Given the description of an element on the screen output the (x, y) to click on. 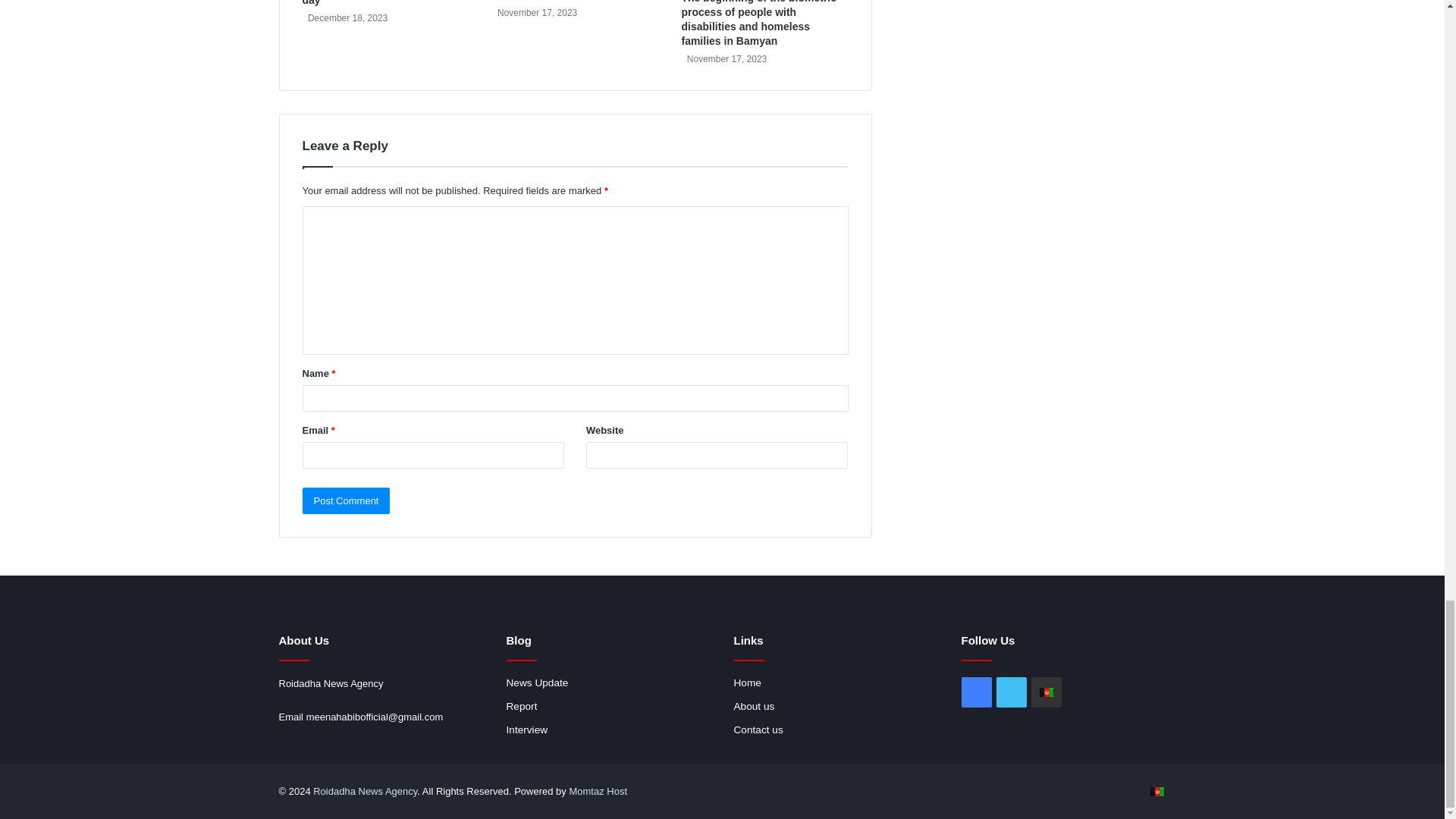
Post Comment (345, 500)
